Given the description of an element on the screen output the (x, y) to click on. 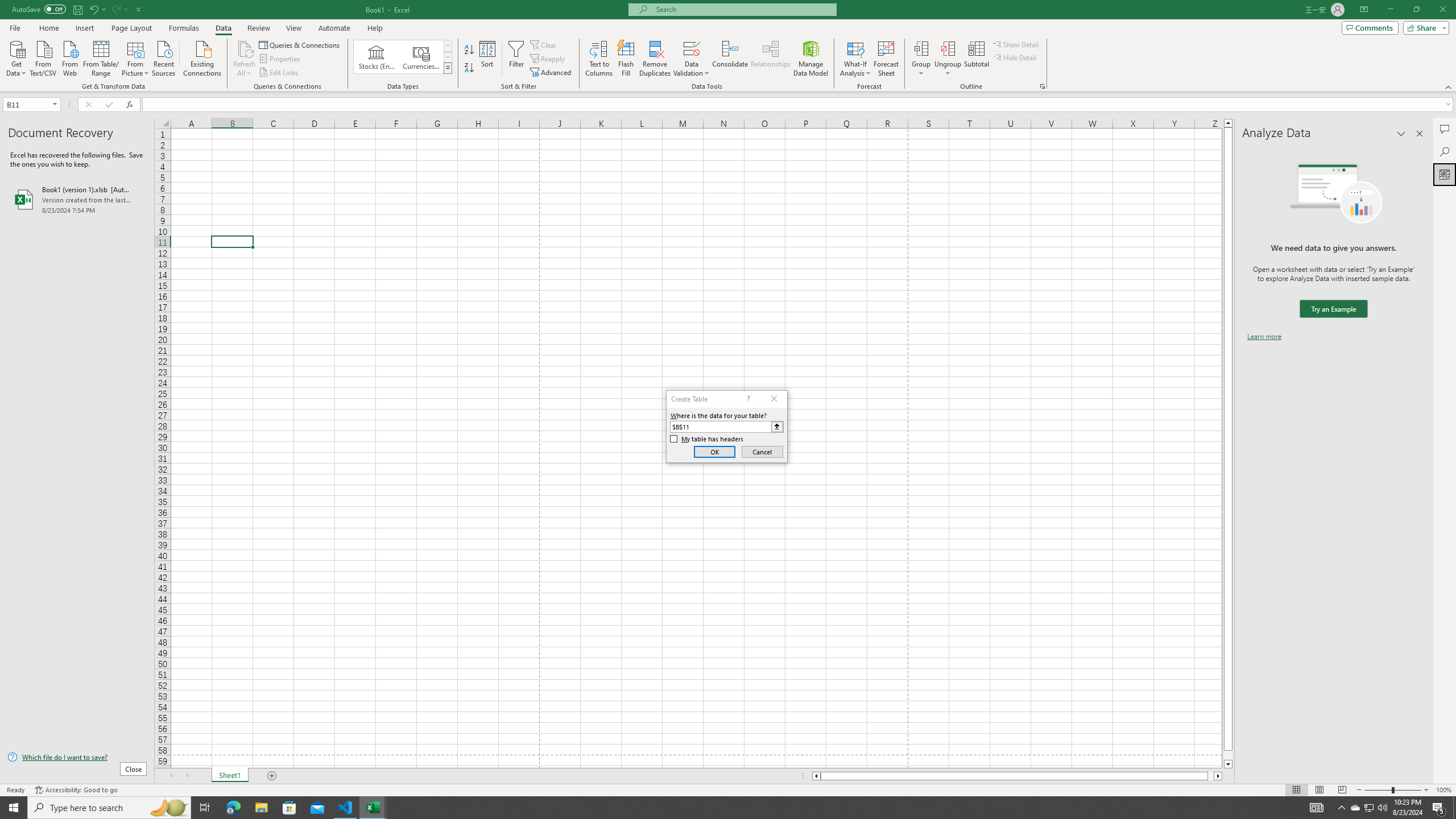
Consolidate... (729, 58)
